Given the description of an element on the screen output the (x, y) to click on. 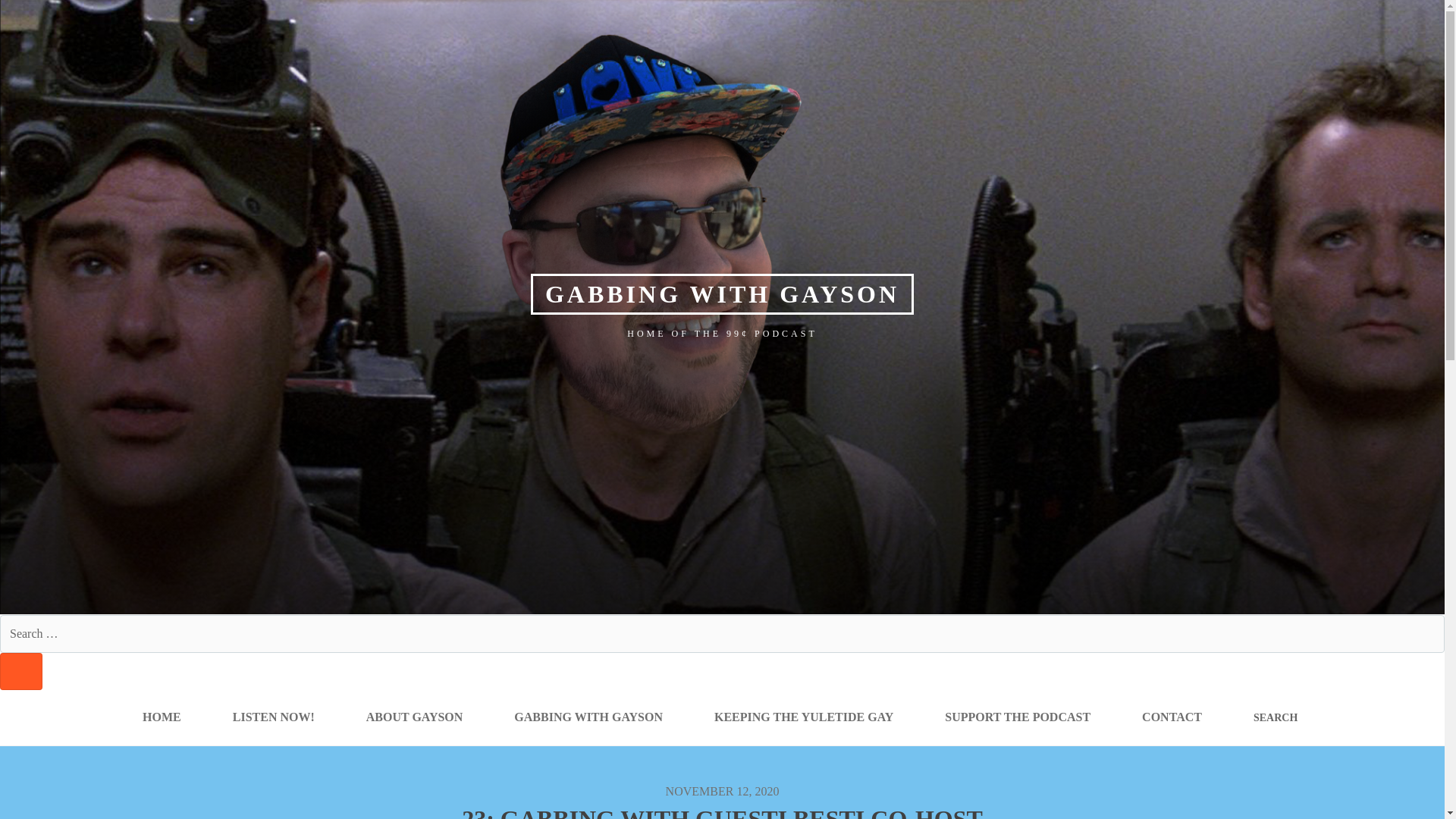
CONTACT (1171, 717)
SEARCH (21, 671)
GABBING WITH GAYSON (588, 717)
SUPPORT THE PODCAST (1017, 717)
KEEPING THE YULETIDE GAY (803, 717)
NOVEMBER 12, 2020 (721, 790)
HOME (161, 717)
GABBING WITH GAYSON (722, 293)
LISTEN NOW! (273, 717)
ABOUT GAYSON (414, 717)
